Given the description of an element on the screen output the (x, y) to click on. 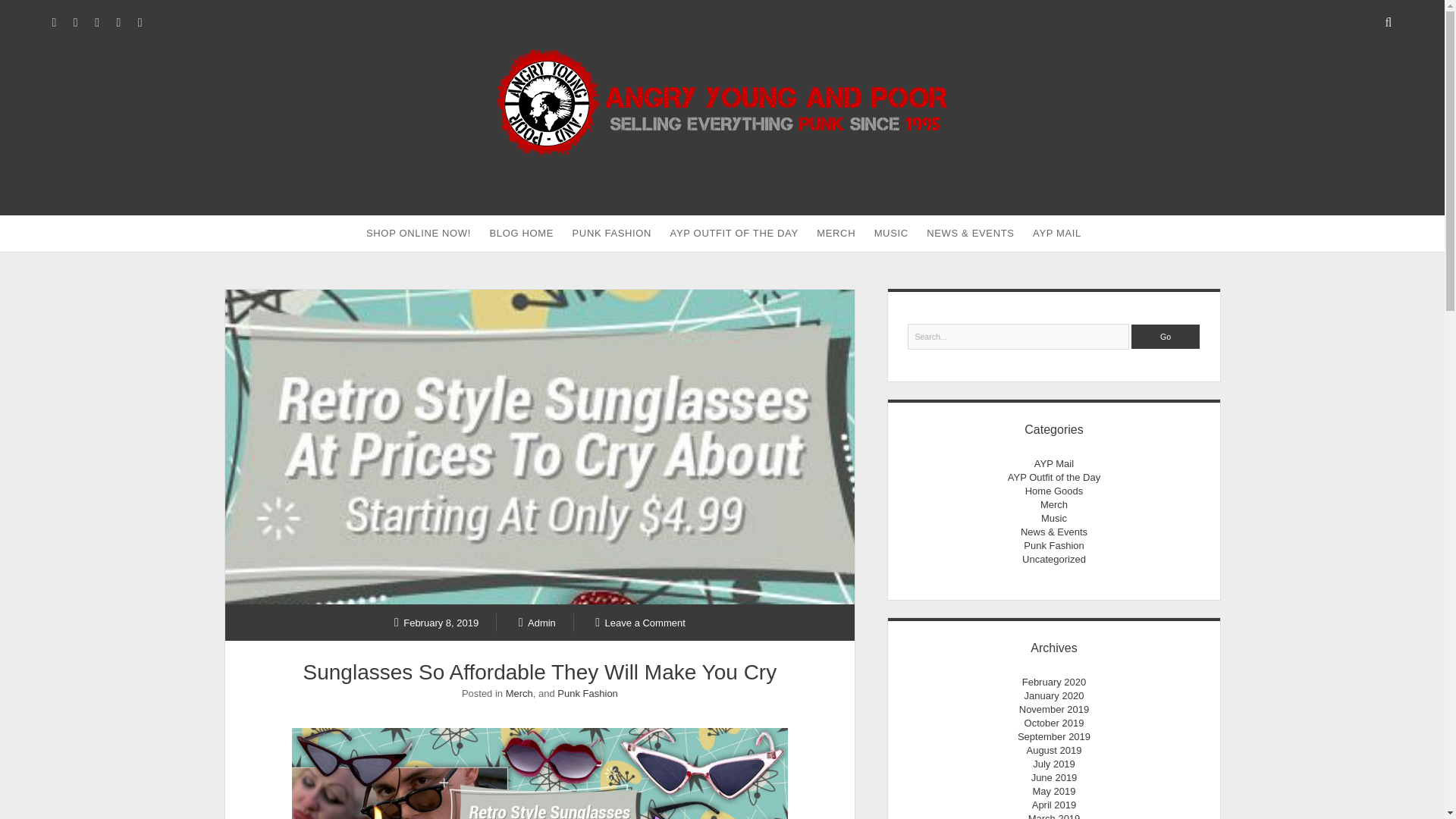
Comments for this post (640, 621)
Leave a Comment (640, 621)
Go (1165, 336)
AYP Mail (1053, 463)
Posts from February (436, 621)
Posts by Admin (537, 621)
Go (1165, 336)
Go (1165, 336)
MERCH (836, 233)
AYP MAIL (1056, 233)
Merch (518, 693)
View all posts in Punk Fashion (587, 693)
AYP OUTFIT OF THE DAY (734, 233)
Punk Fashion (587, 693)
View all posts in Merch (518, 693)
